Given the description of an element on the screen output the (x, y) to click on. 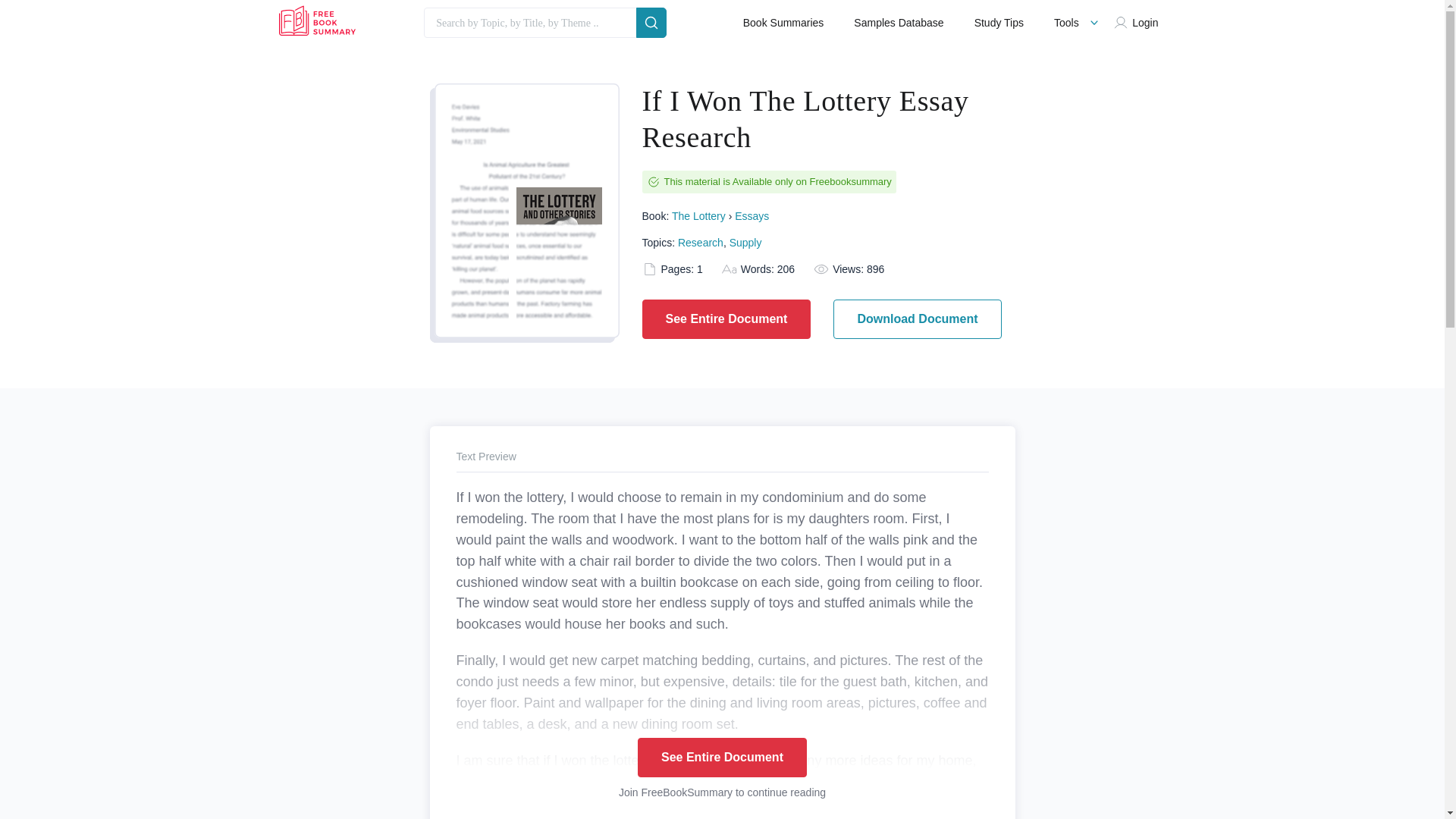
Book Summaries (783, 22)
Samples Database (897, 22)
Study Tips (998, 22)
Research (700, 242)
Login (1139, 22)
Essays (751, 215)
Tools (1066, 22)
The Lottery (698, 215)
Supply (745, 242)
